Given the description of an element on the screen output the (x, y) to click on. 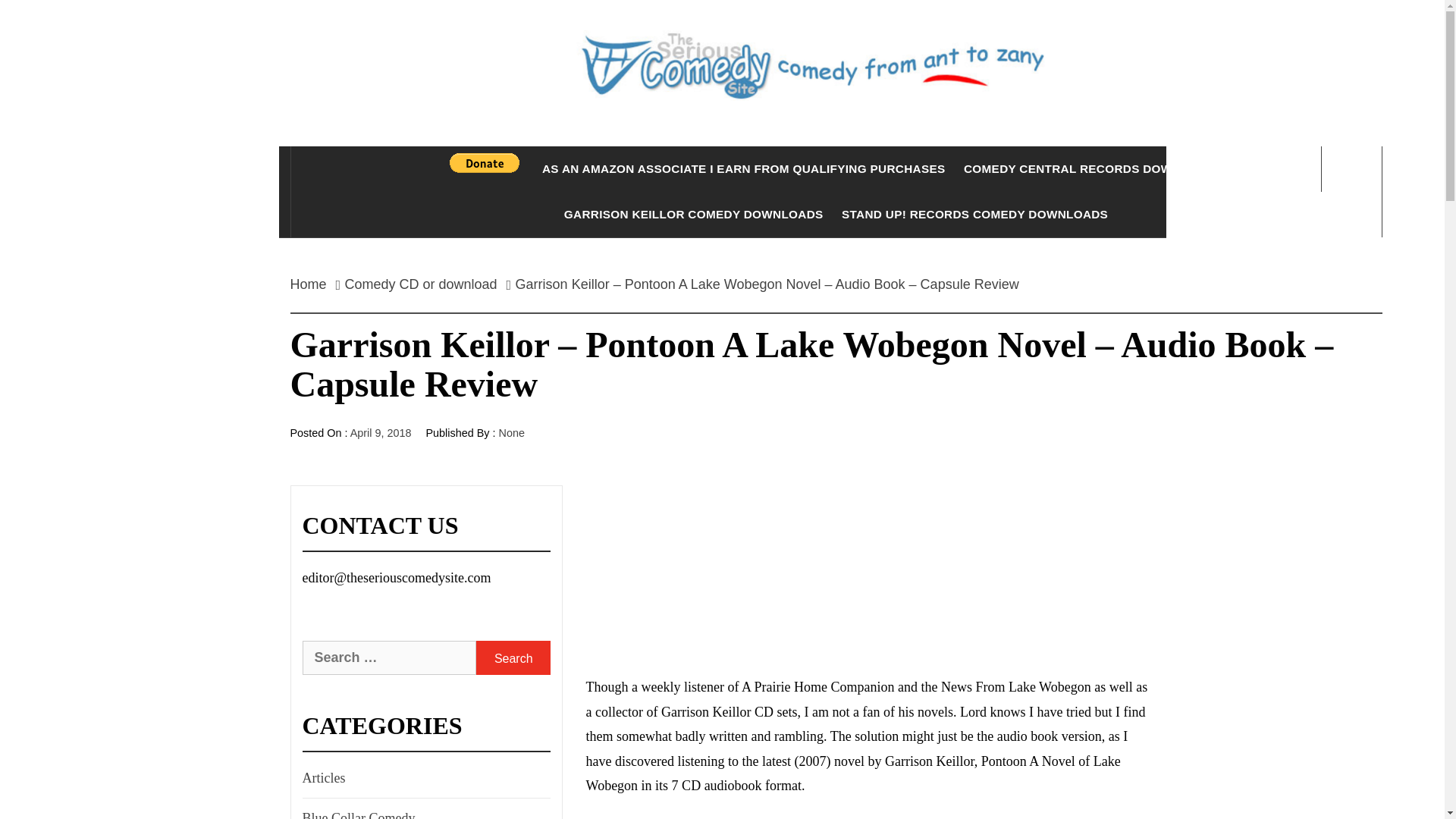
Search (513, 657)
STAND UP! RECORDS COMEDY DOWNLOADS (974, 214)
Home (311, 283)
GARRISON KEILLOR COMEDY DOWNLOADS (693, 214)
AS AN AMAZON ASSOCIATE I EARN FROM QUALIFYING PURCHASES (743, 168)
COMEDY CENTRAL RECORDS DOWNLOADS (1093, 168)
None (511, 432)
Blue Collar Comedy (356, 812)
Search (797, 37)
April 9, 2018 (381, 432)
Search (513, 657)
Search (513, 657)
PayPal - The safer, easier way to pay online! (484, 162)
THE SERIOUS COMEDY SITE (836, 164)
Articles (322, 777)
